Given the description of an element on the screen output the (x, y) to click on. 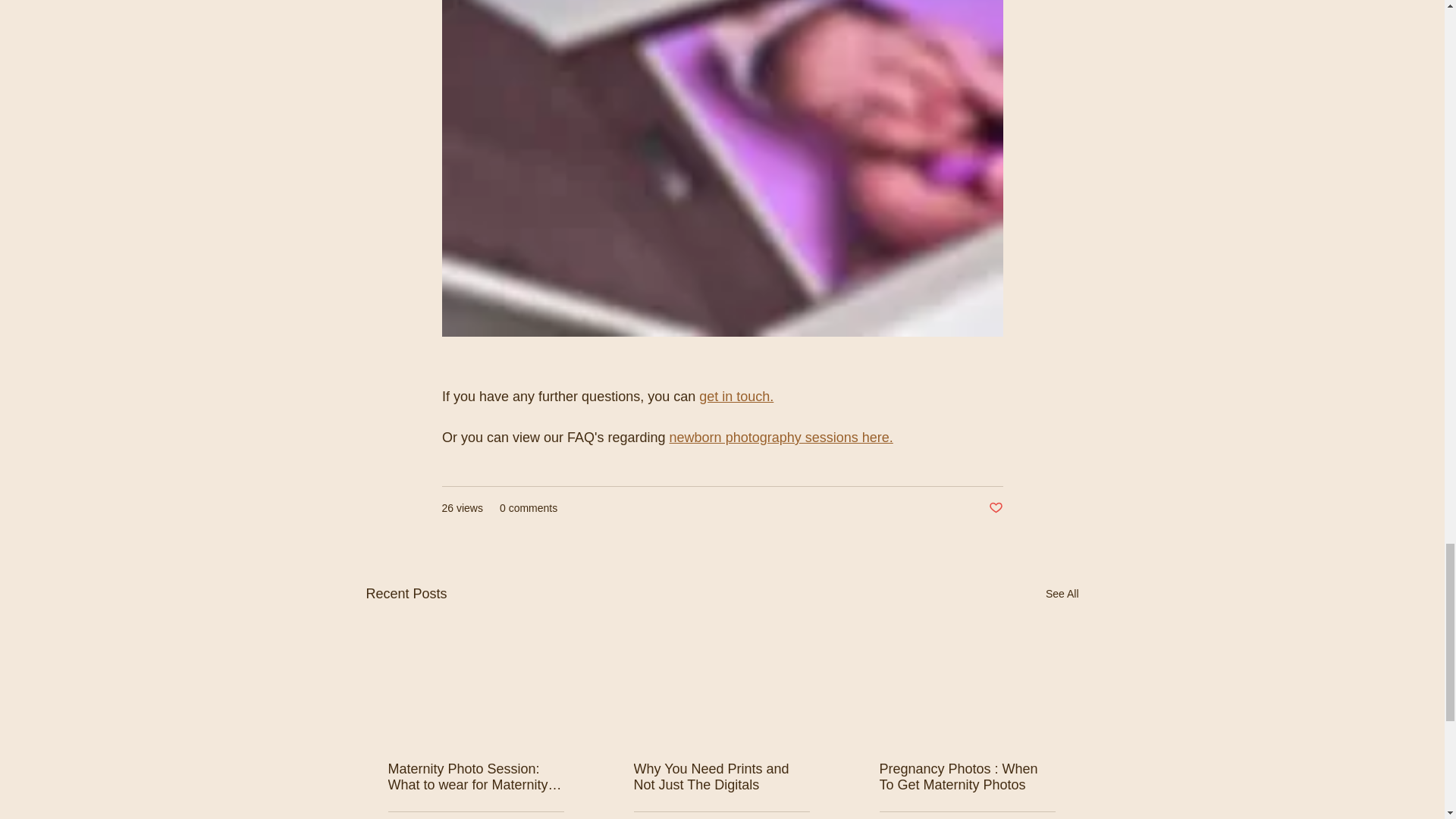
Post not marked as liked (995, 508)
See All (1061, 594)
Pregnancy Photos : When To Get Maternity Photos (967, 777)
get in touch. (735, 396)
Why You Need Prints and Not Just The Digitals (721, 777)
newborn photography sessions here. (780, 437)
Maternity Photo Session: What to wear for Maternity Photos (476, 777)
